Given the description of an element on the screen output the (x, y) to click on. 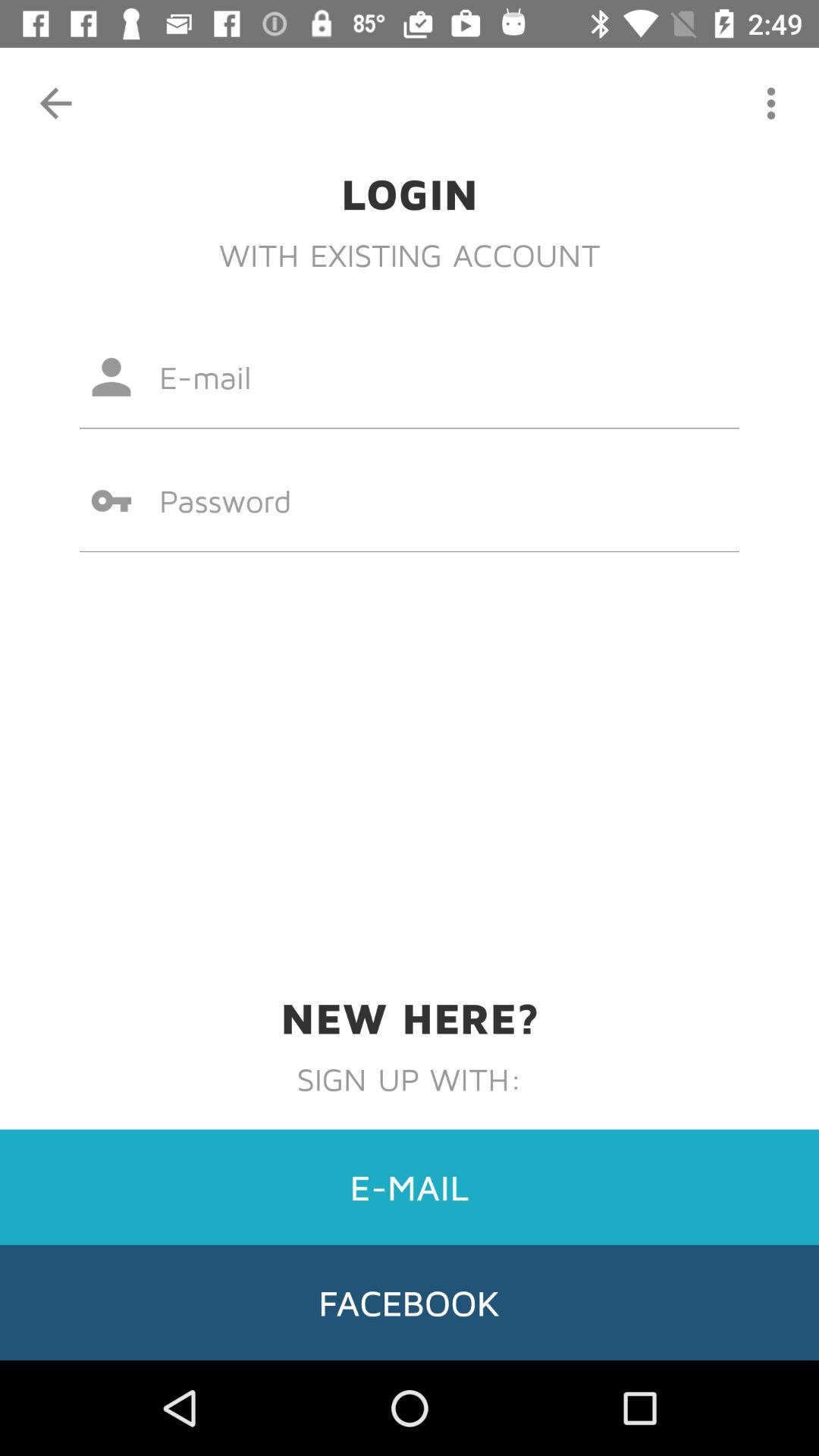
turn off the icon at the top right corner (771, 103)
